Given the description of an element on the screen output the (x, y) to click on. 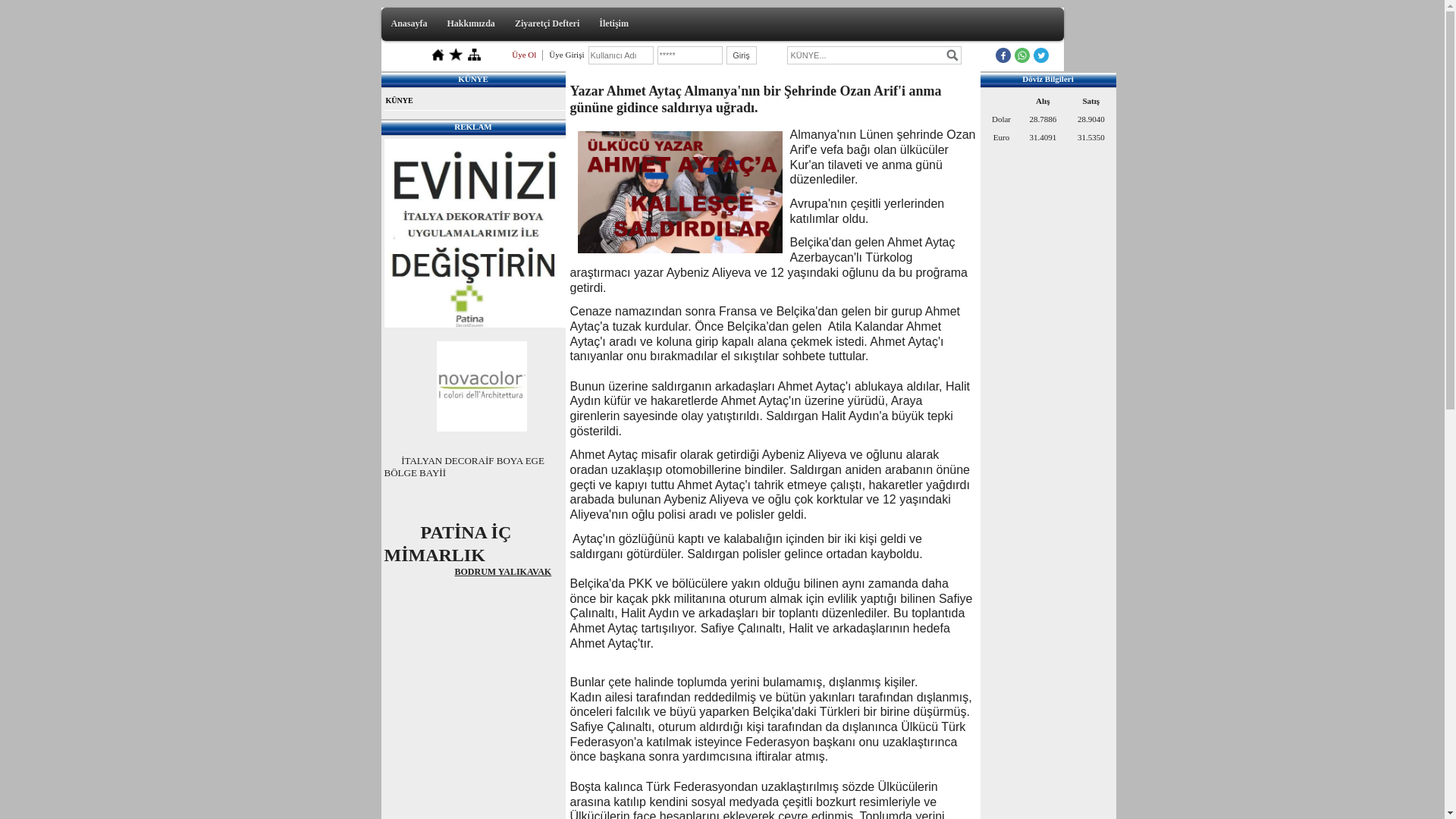
Anasayfa Element type: text (409, 23)
